Given the description of an element on the screen output the (x, y) to click on. 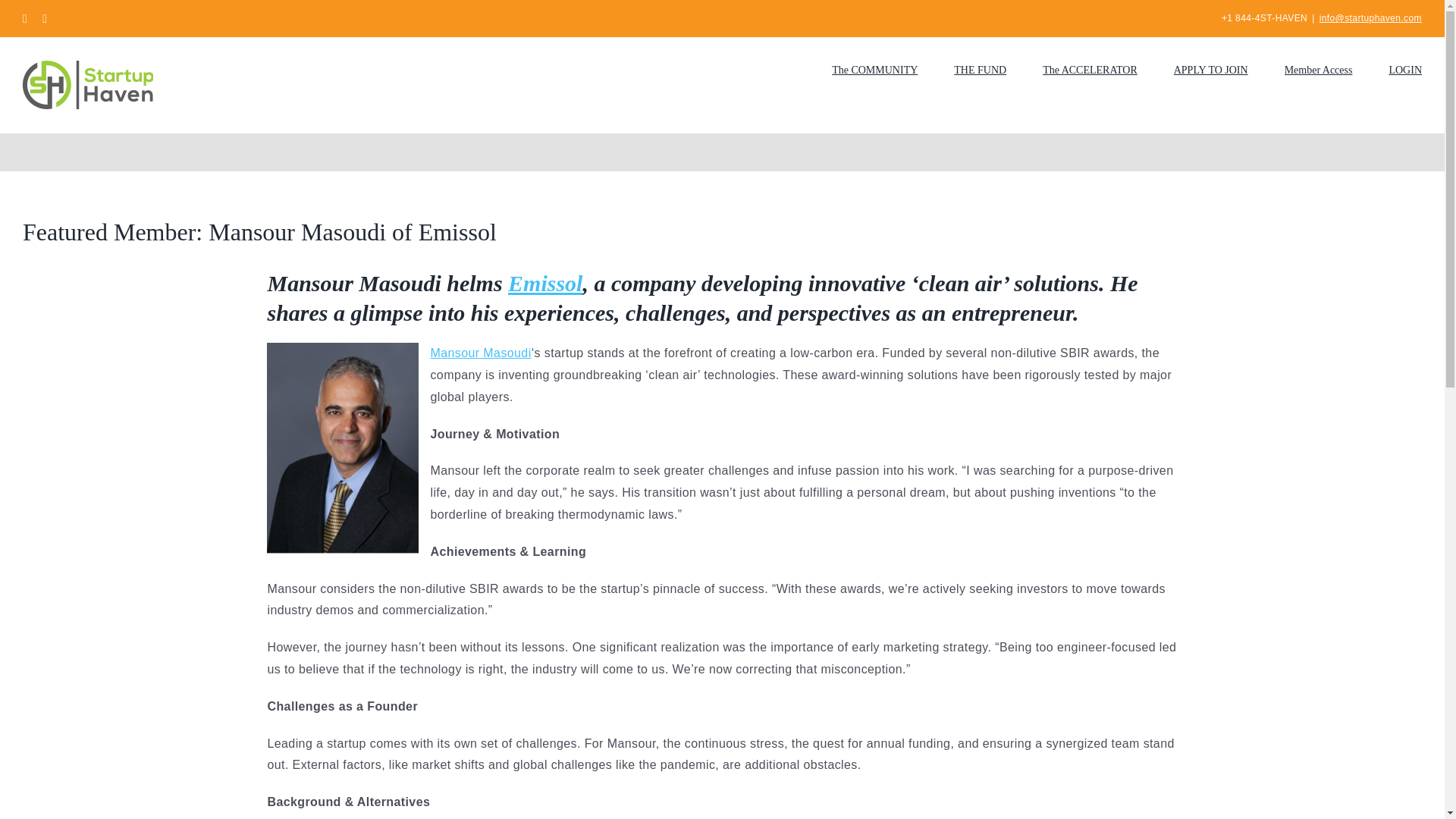
The COMMUNITY (874, 68)
APPLY TO JOIN (1210, 68)
Member Access (1318, 68)
The ACCELERATOR (1089, 68)
